Given the description of an element on the screen output the (x, y) to click on. 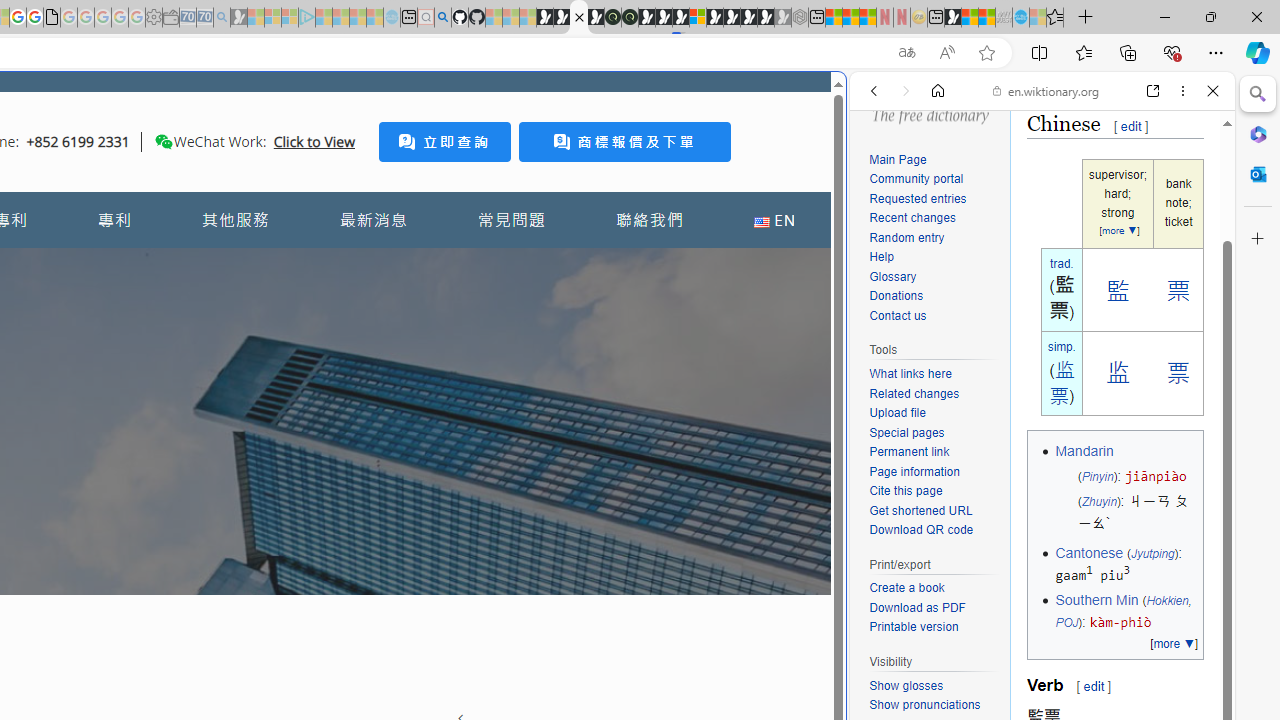
Home | Sky Blue Bikes - Sky Blue Bikes (687, 426)
